Given the description of an element on the screen output the (x, y) to click on. 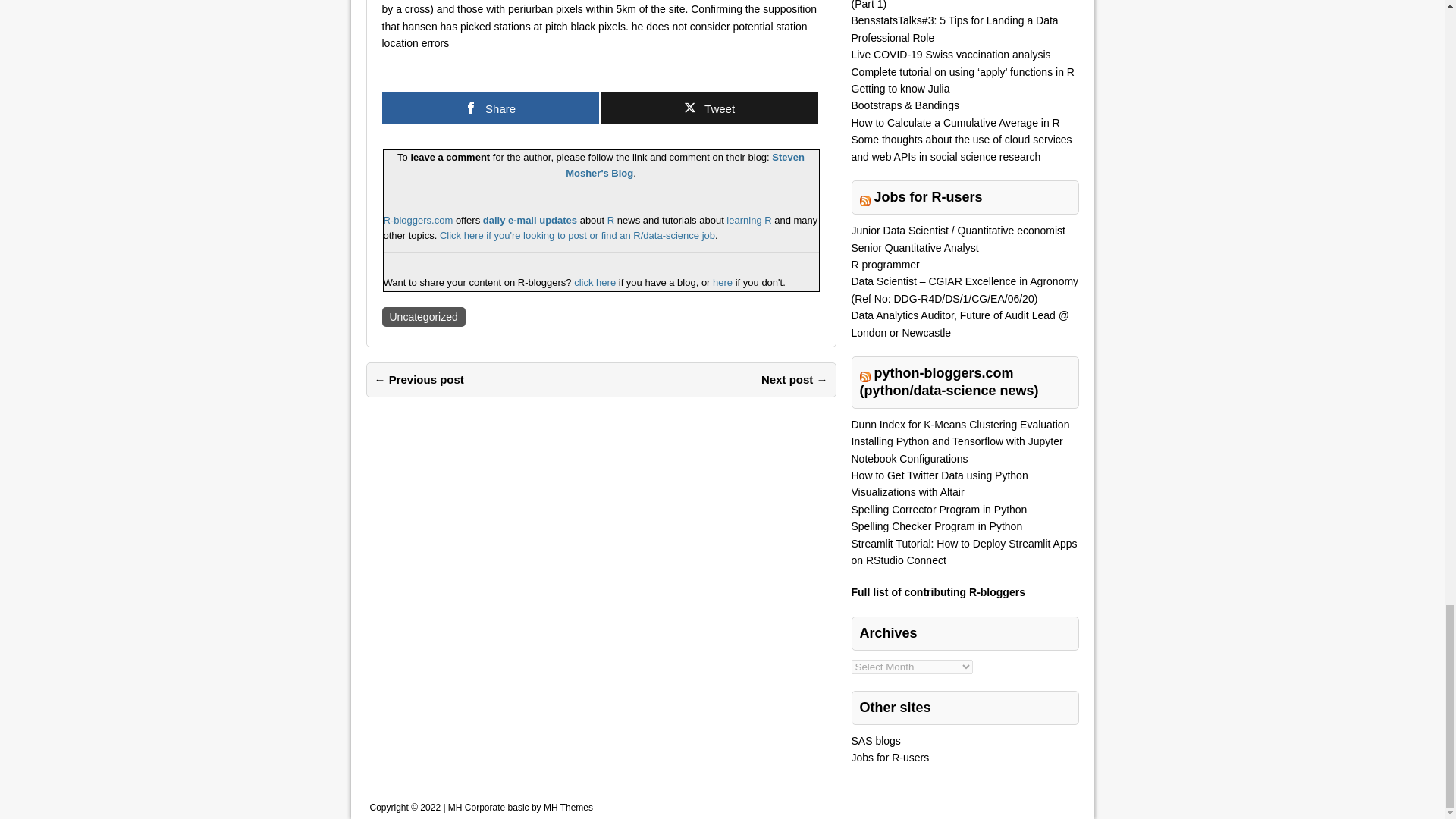
R tutorials (748, 220)
Share (489, 107)
Data science jobs (576, 235)
